Given the description of an element on the screen output the (x, y) to click on. 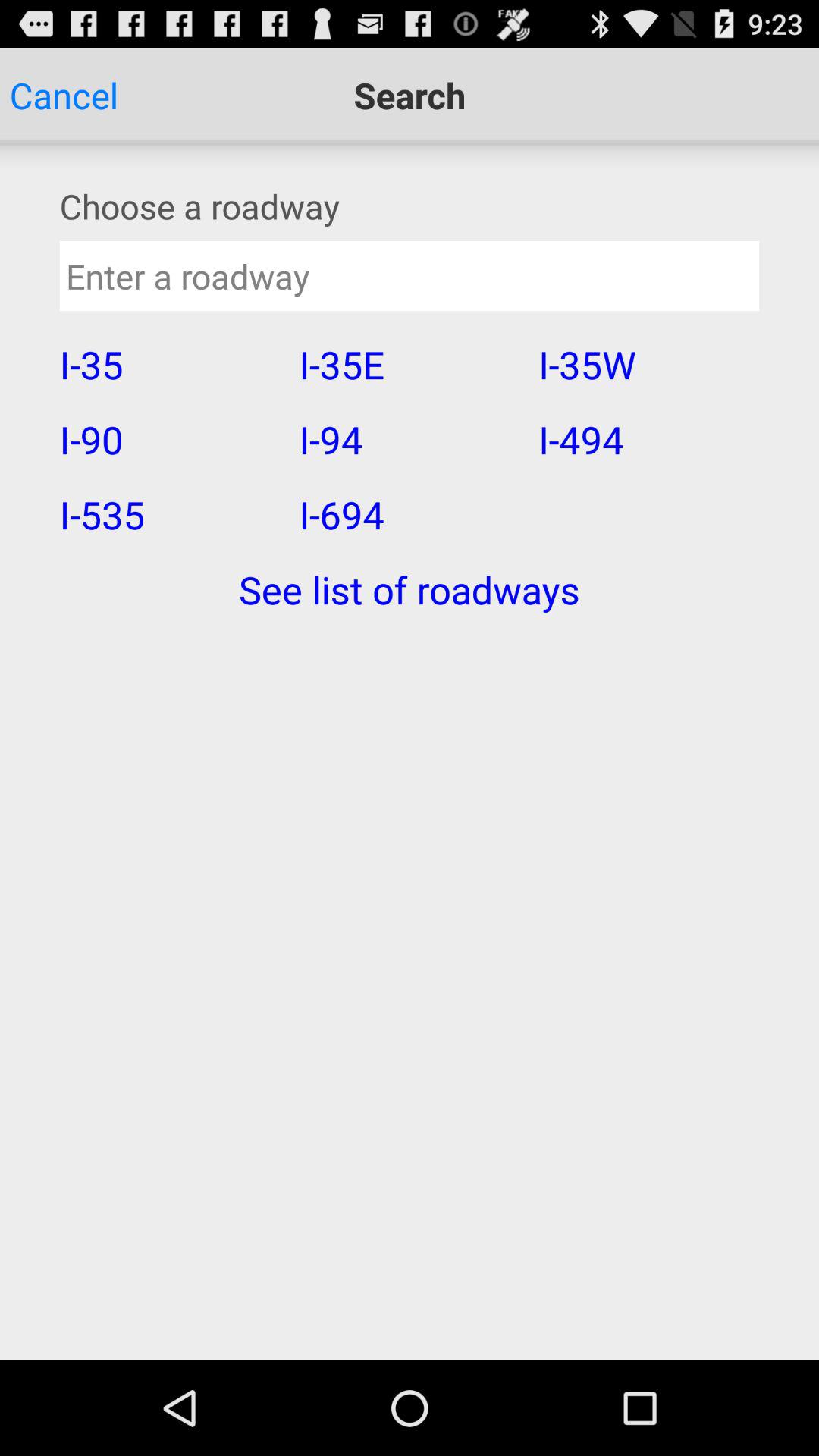
open app next to the i-35w item (408, 439)
